Given the description of an element on the screen output the (x, y) to click on. 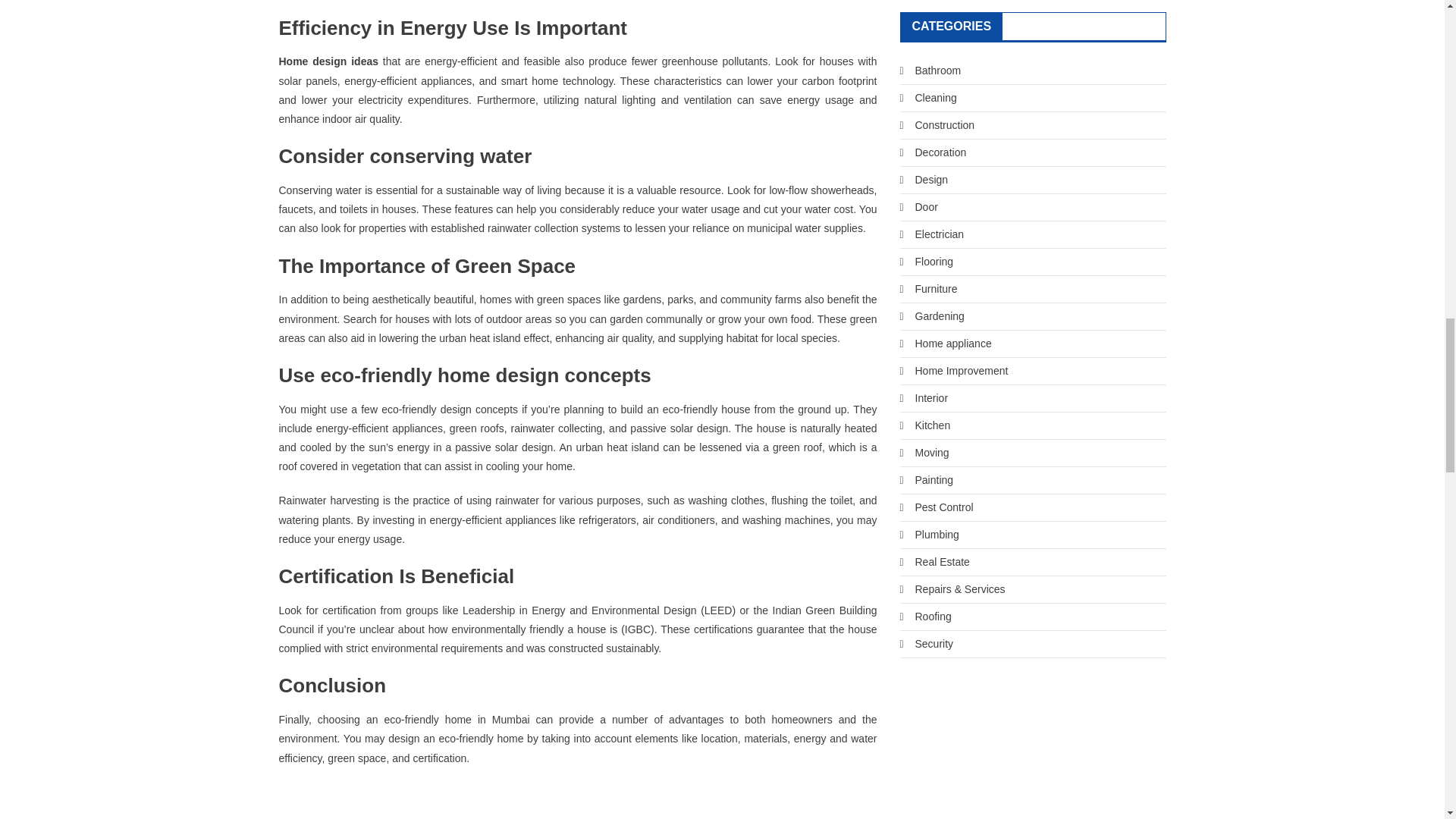
hot tub gazebo (925, 206)
